Given the description of an element on the screen output the (x, y) to click on. 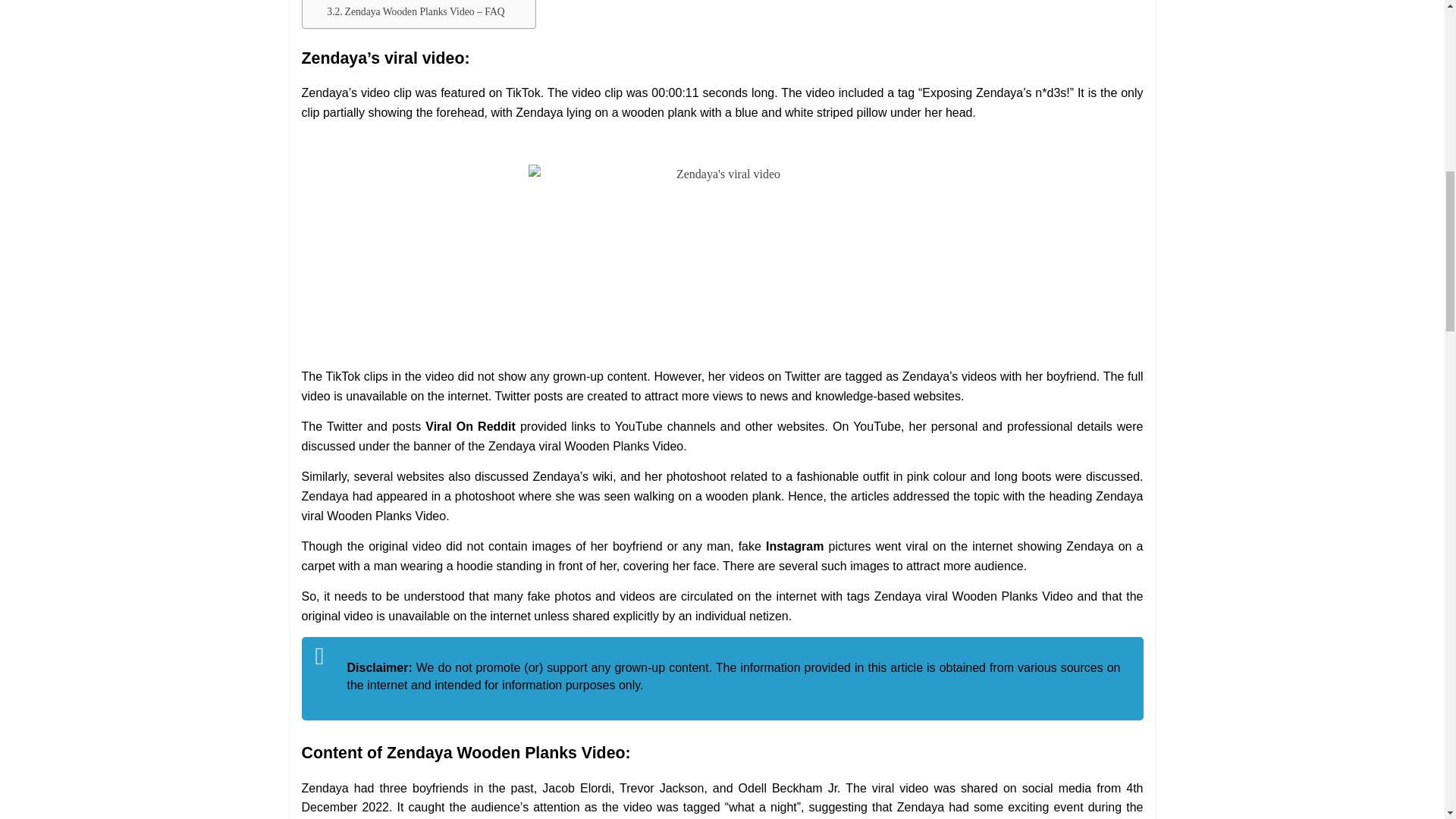
Conclusion: (360, 2)
